Given the description of an element on the screen output the (x, y) to click on. 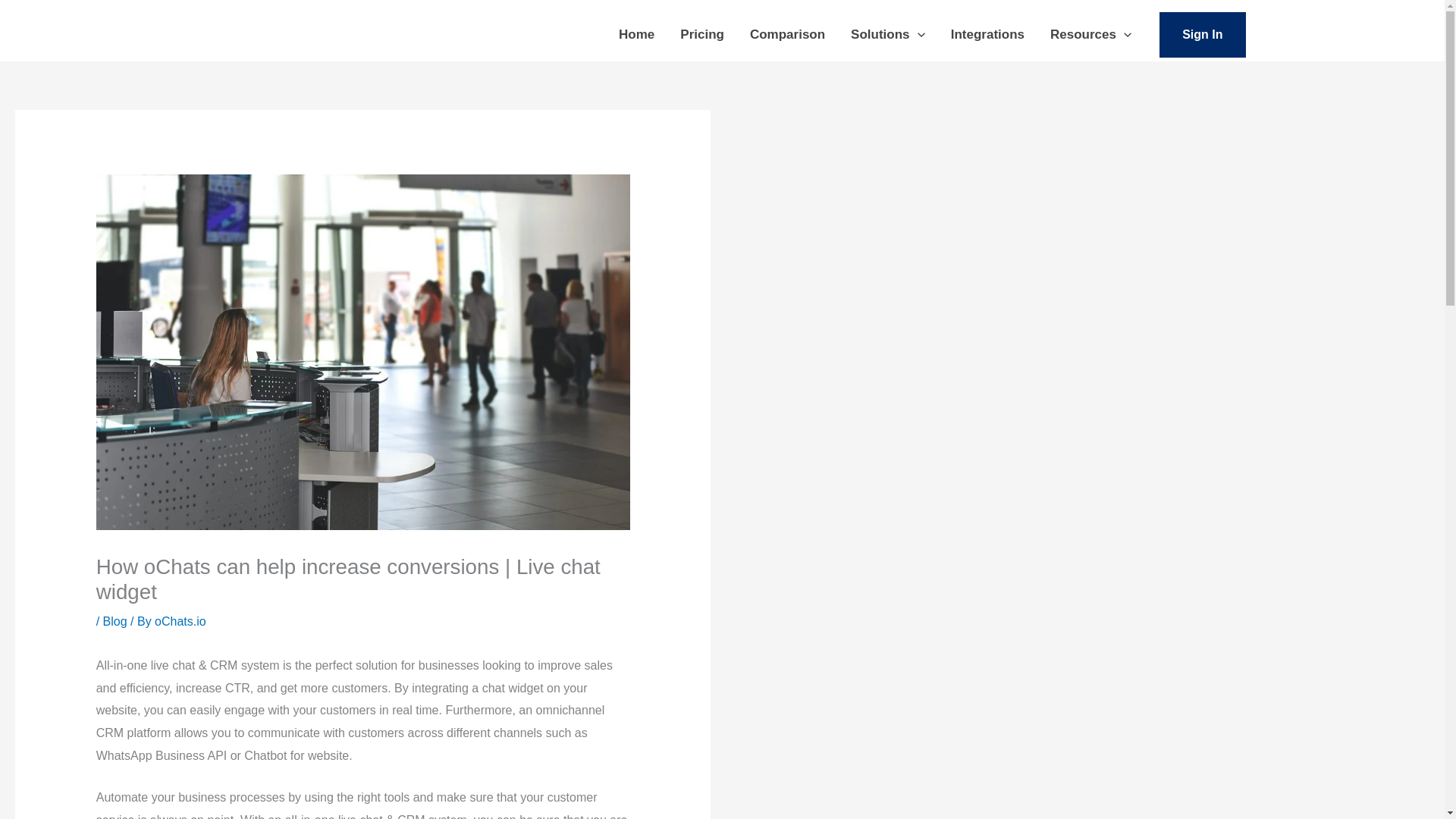
Resources (1090, 34)
Pricing (701, 34)
View all posts by oChats.io (180, 621)
Sign In (1201, 34)
Home (635, 34)
Comparison (787, 34)
oChats.io (180, 621)
Blog (115, 621)
Integrations (986, 34)
Solutions (887, 34)
